Given the description of an element on the screen output the (x, y) to click on. 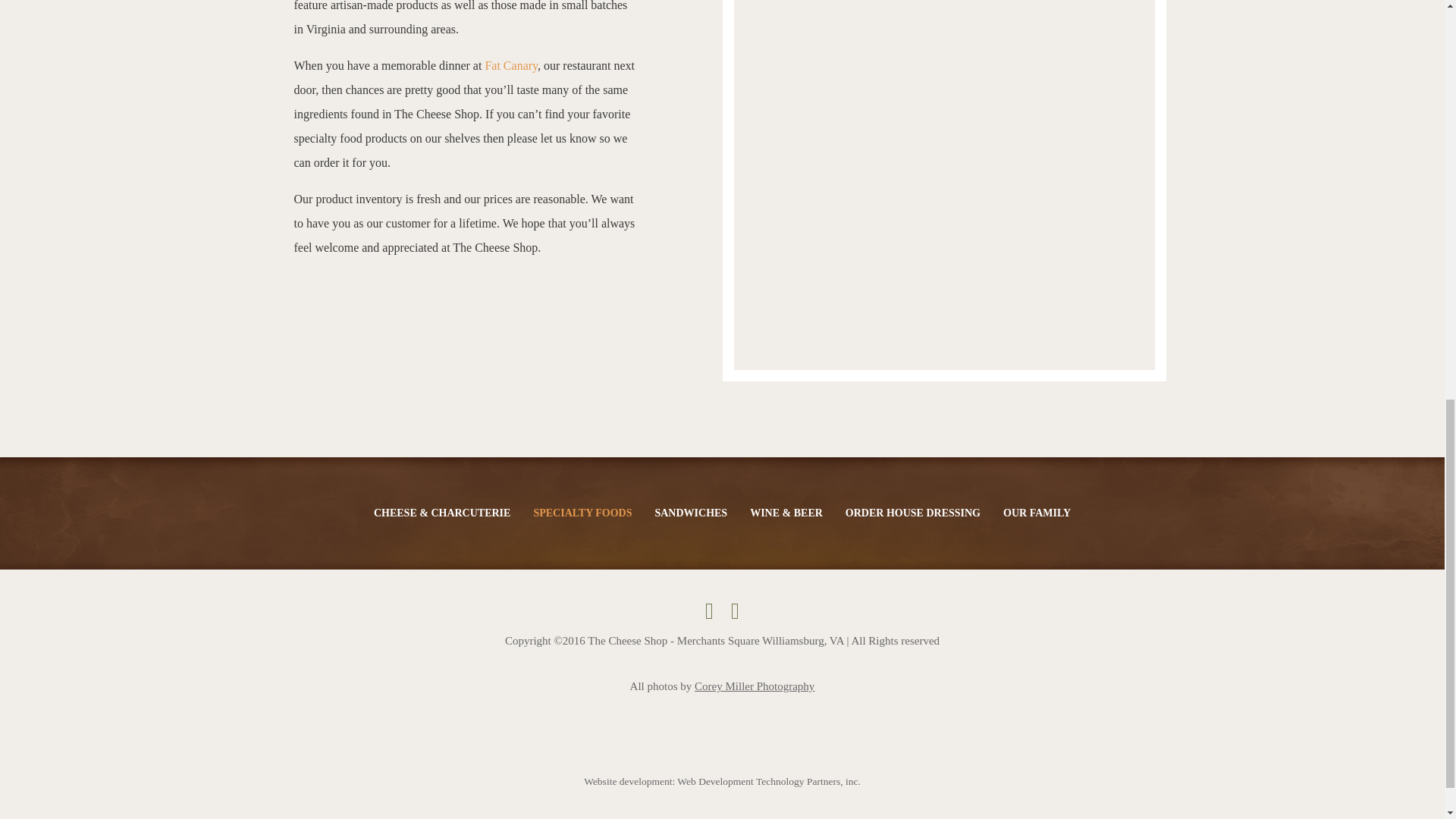
Corey Miller Photography (753, 686)
Fat Canary (491, 65)
ORDER HOUSE DRESSING (912, 513)
